Given the description of an element on the screen output the (x, y) to click on. 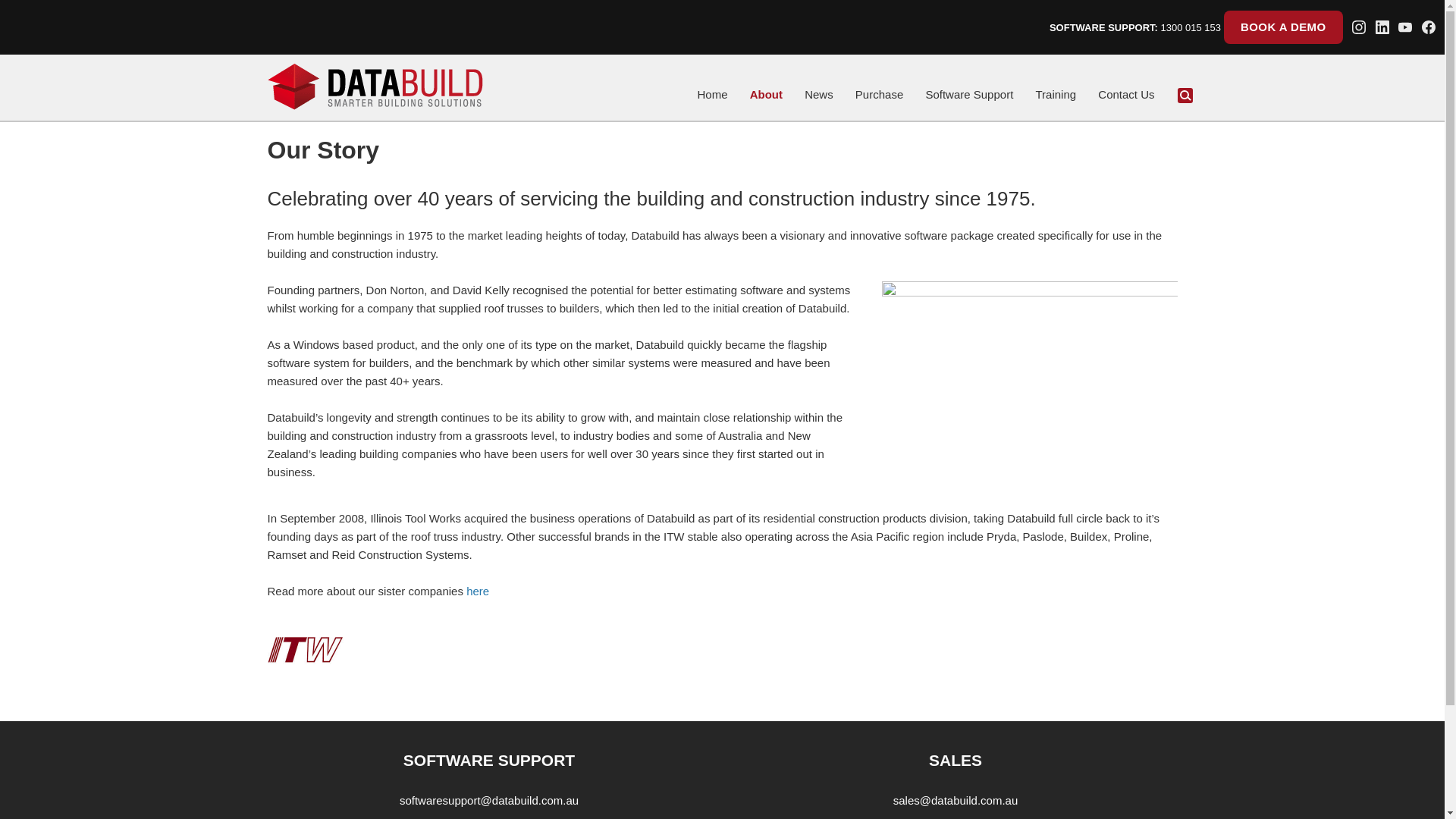
News Element type: text (818, 94)
About Element type: text (765, 94)
softwaresupport@databuild.com.au Element type: text (488, 799)
Home Element type: text (711, 94)
Skip to content Element type: text (715, 92)
BOOK A DEMO Element type: text (1282, 26)
SOFTWARE SUPPORT: 1300 015 153 Element type: text (1134, 27)
Purchase Element type: text (879, 94)
sales@databuild.com.au Element type: text (955, 799)
here Element type: text (477, 590)
Training Element type: text (1055, 94)
Software Support Element type: text (969, 94)
Contact Us Element type: text (1126, 94)
